Given the description of an element on the screen output the (x, y) to click on. 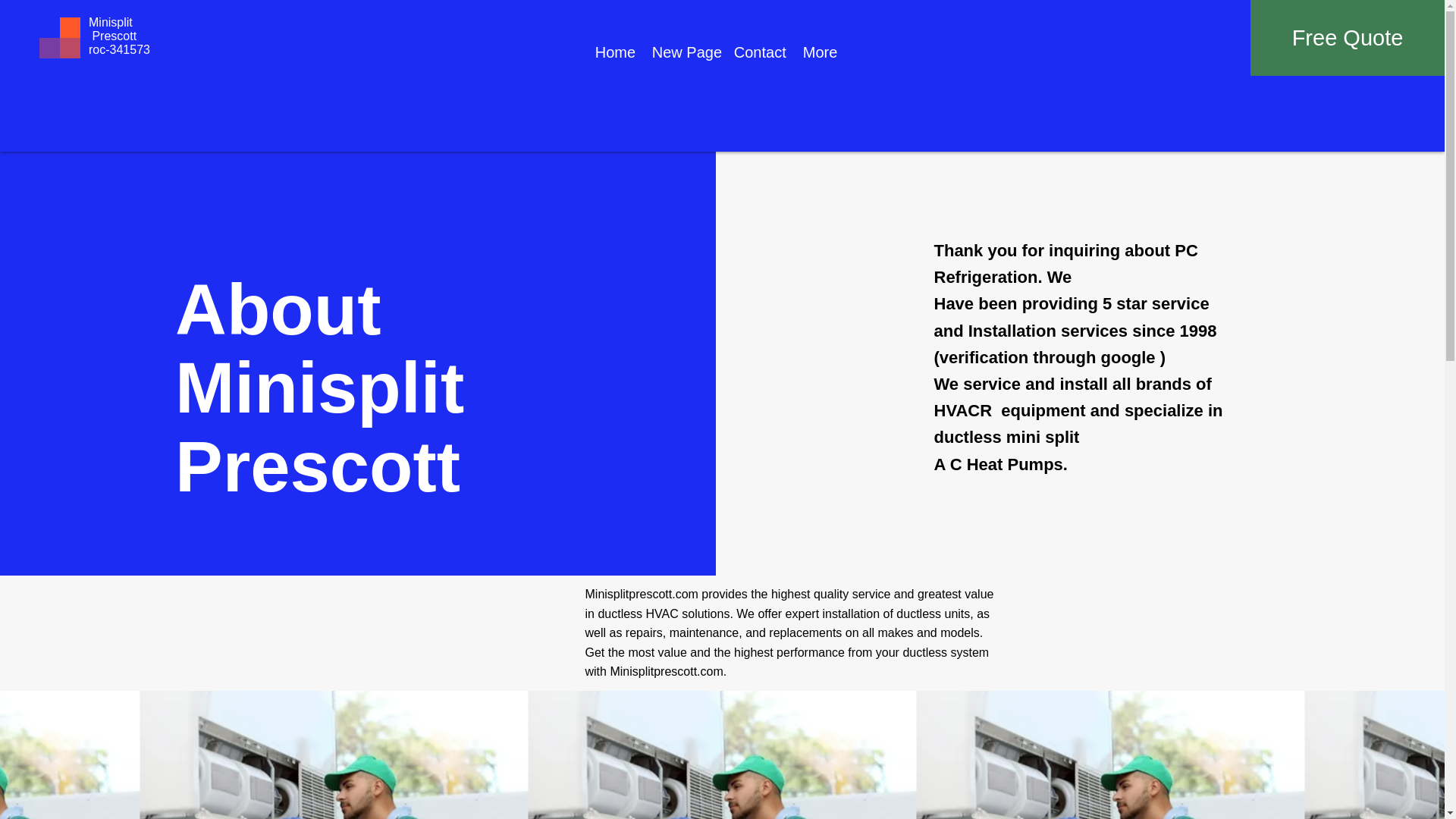
New Page (681, 52)
Minisplit (110, 21)
Contact (757, 52)
Home (611, 52)
 Prescott (112, 35)
